Given the description of an element on the screen output the (x, y) to click on. 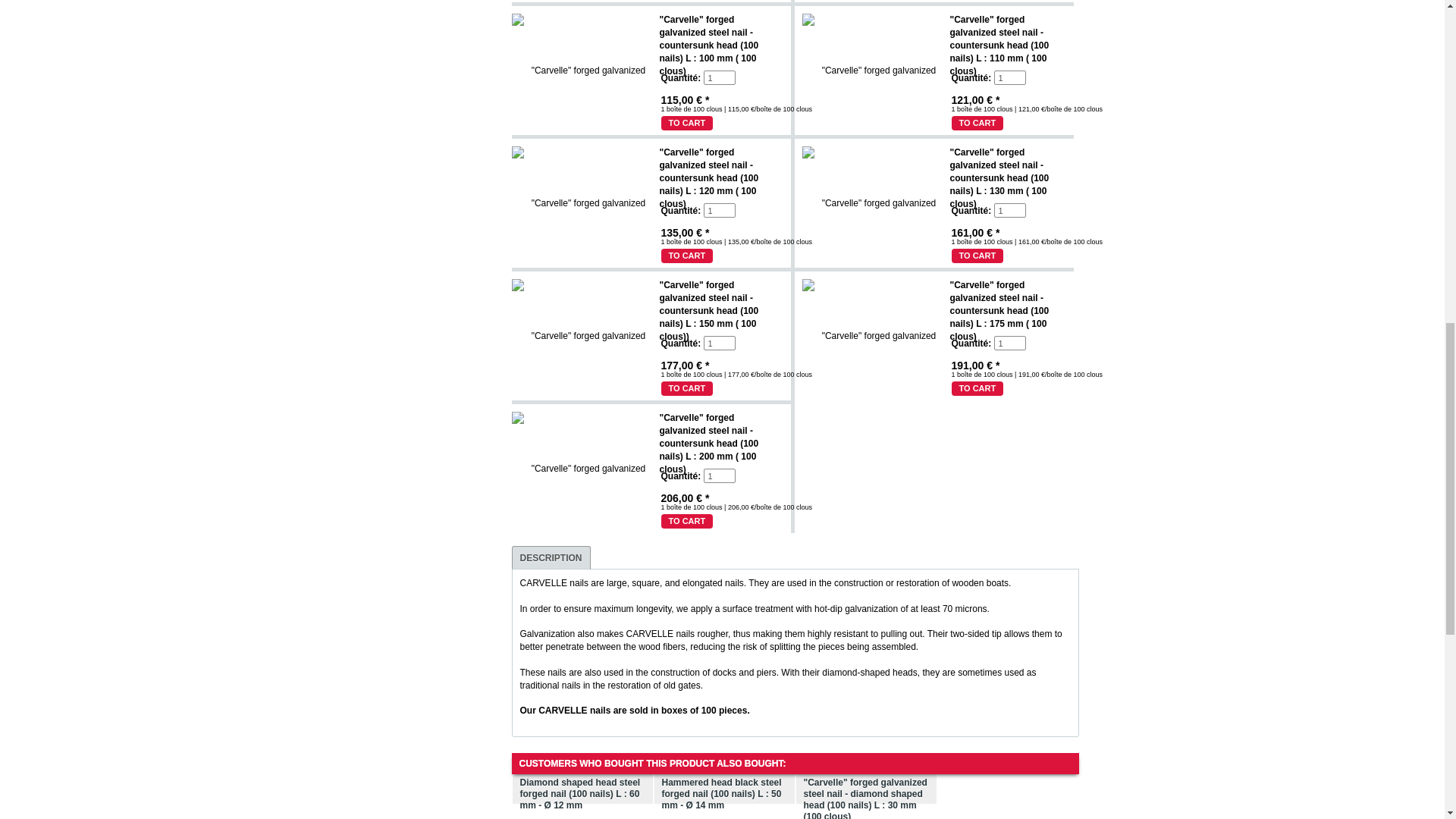
1 (1008, 342)
1 (719, 475)
1 (719, 342)
1 (1008, 77)
1 (719, 210)
1 (719, 77)
1 (1008, 210)
